Given the description of an element on the screen output the (x, y) to click on. 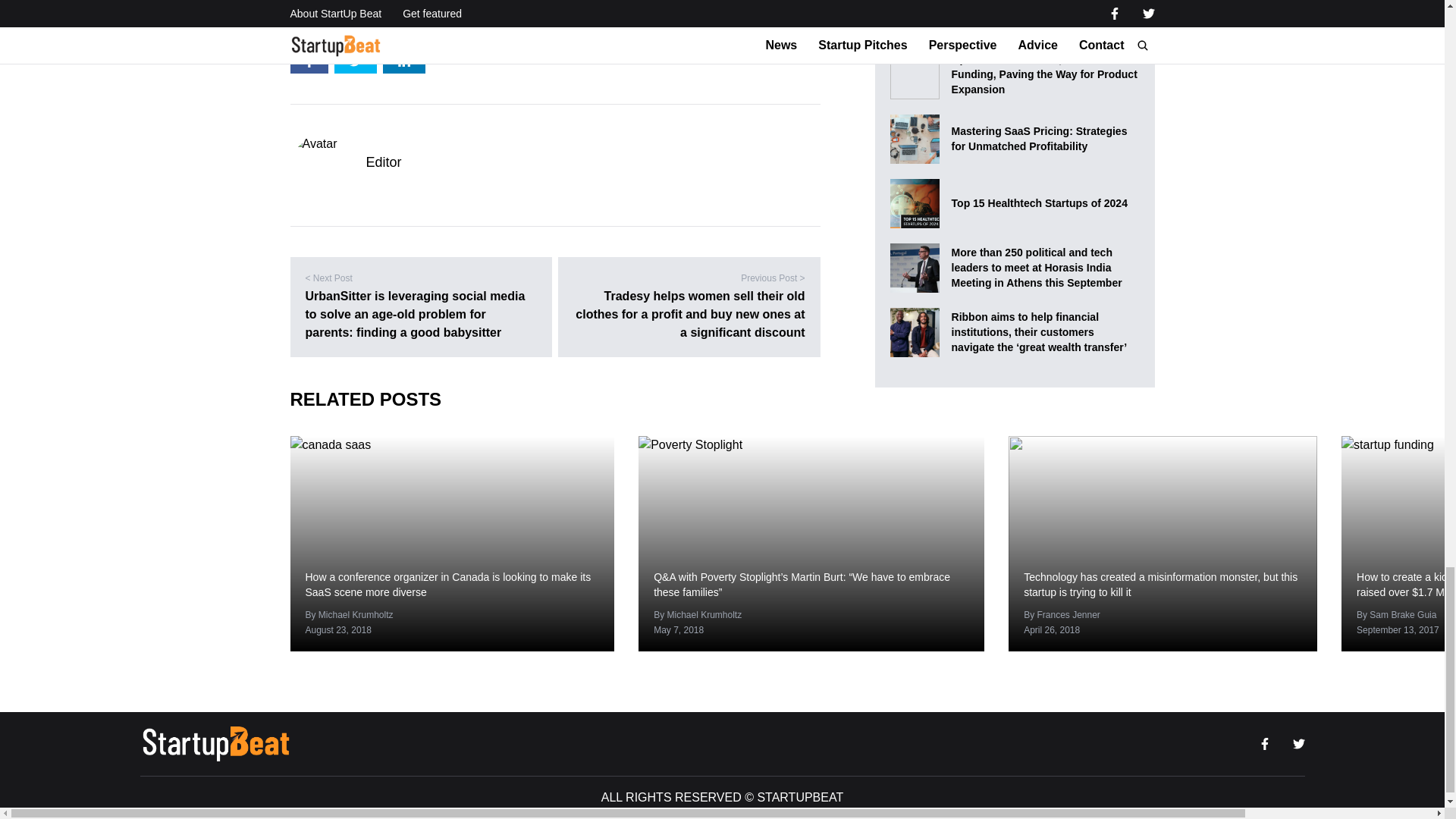
www.gridstore.com (404, 21)
Editor (383, 161)
